Given the description of an element on the screen output the (x, y) to click on. 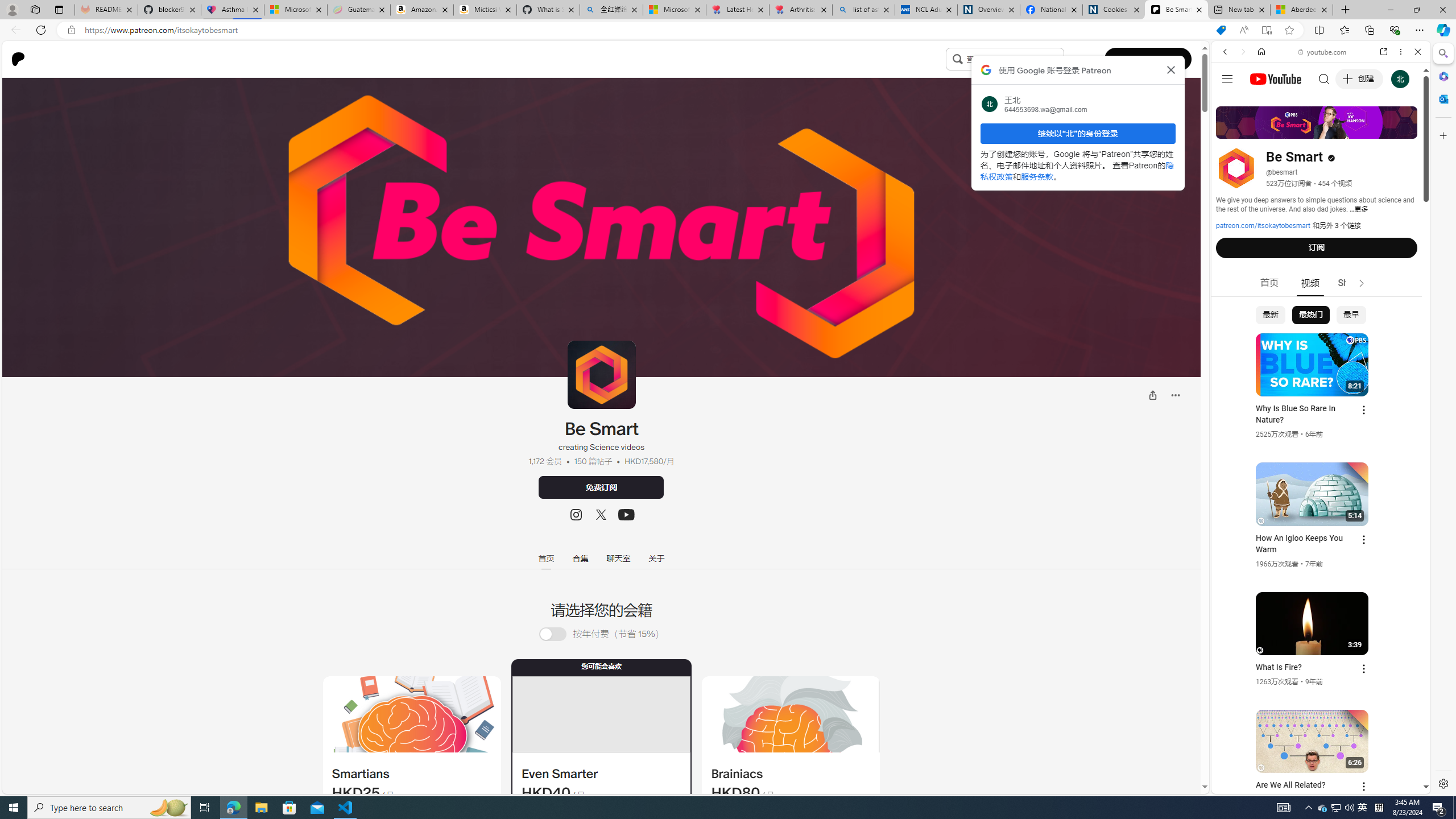
Trailer #2 [HD] (1320, 336)
Go to home page (22, 59)
Search videos from youtube.com (1299, 373)
Forward (1242, 51)
